Given the description of an element on the screen output the (x, y) to click on. 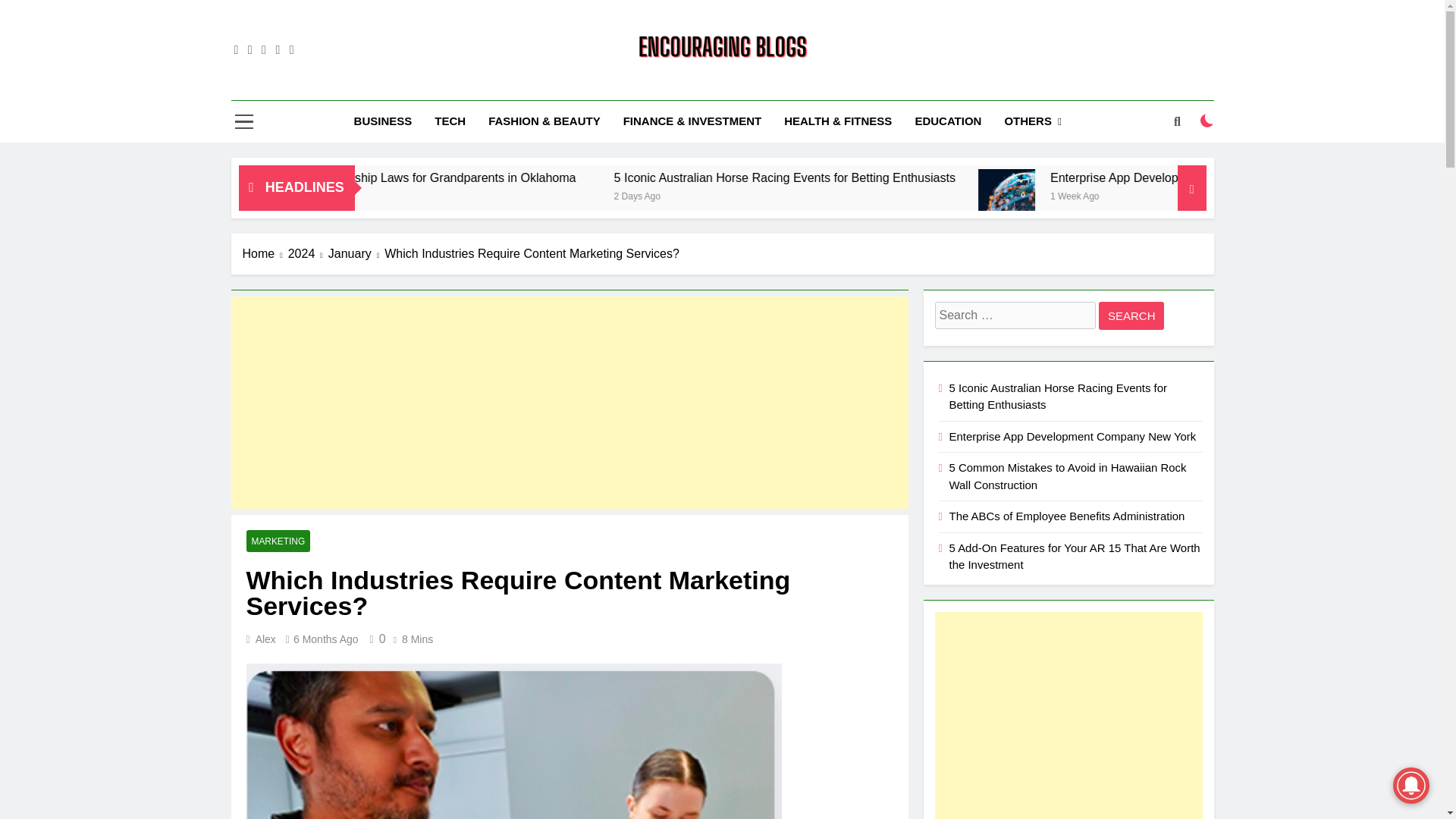
Enterprise App Development Company New York (1162, 197)
BUSINESS (382, 120)
OTHERS (1031, 121)
2 Days Ago (820, 195)
3 Months Ago (398, 195)
Search (1131, 316)
Enterprise App Development Company New York (1159, 197)
TECH (450, 120)
Encouraging Blogs (618, 86)
EDUCATION (947, 120)
on (1206, 120)
